Given the description of an element on the screen output the (x, y) to click on. 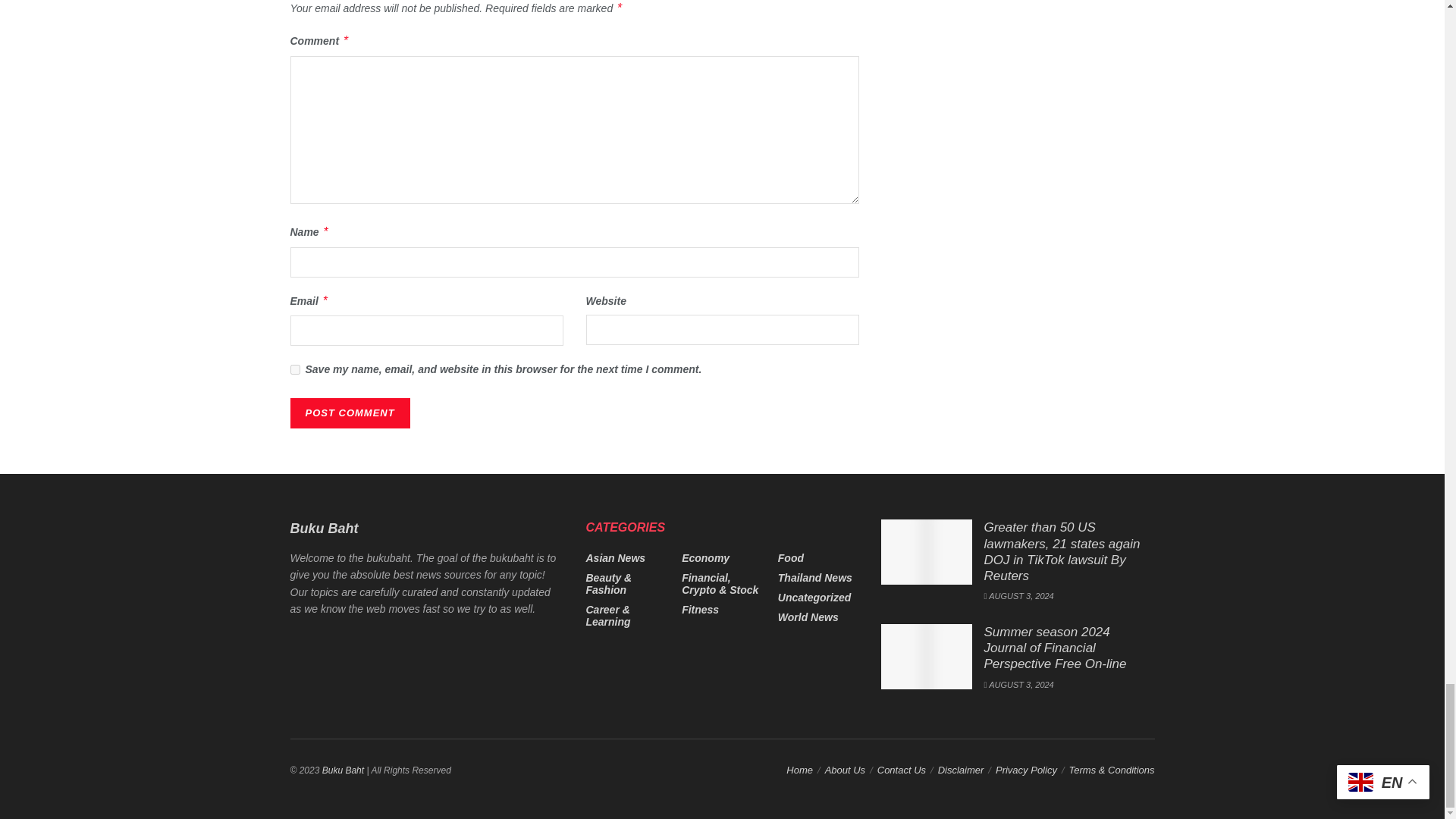
Post Comment (349, 413)
yes (294, 369)
Premium news  (342, 769)
